Given the description of an element on the screen output the (x, y) to click on. 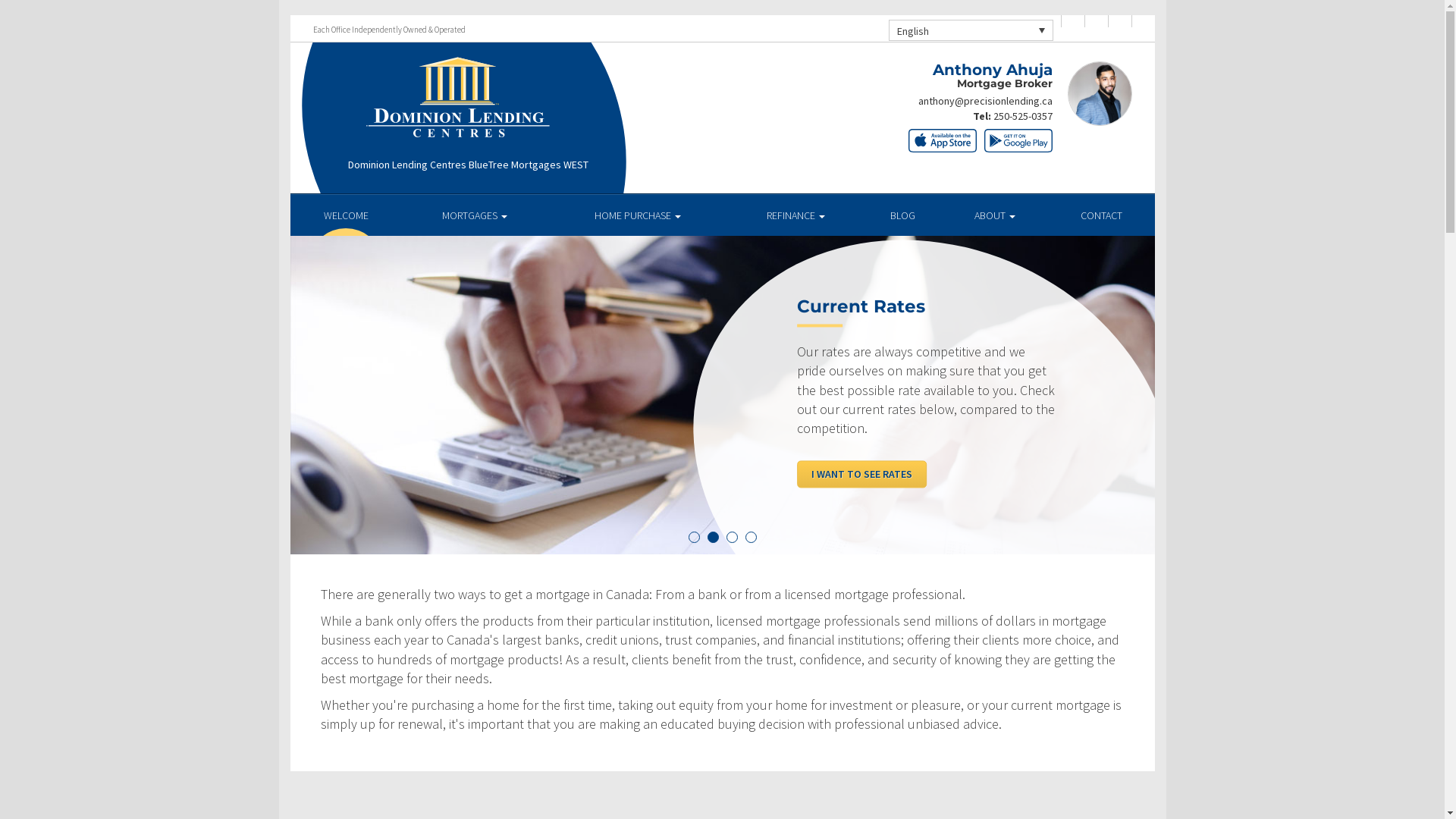
250-525-0357 Element type: text (1022, 115)
anthony@precisionlending.ca Element type: text (984, 100)
BLOG Element type: text (901, 214)
REFINANCE Element type: text (795, 214)
HOME PURCHASE Element type: text (637, 214)
MORTGAGES Element type: text (474, 214)
WELCOME Element type: text (345, 214)
I WANT TO SEE RATES Element type: text (861, 473)
ABOUT Element type: text (994, 214)
English Element type: text (970, 29)
CONTACT Element type: text (1101, 214)
